Given the description of an element on the screen output the (x, y) to click on. 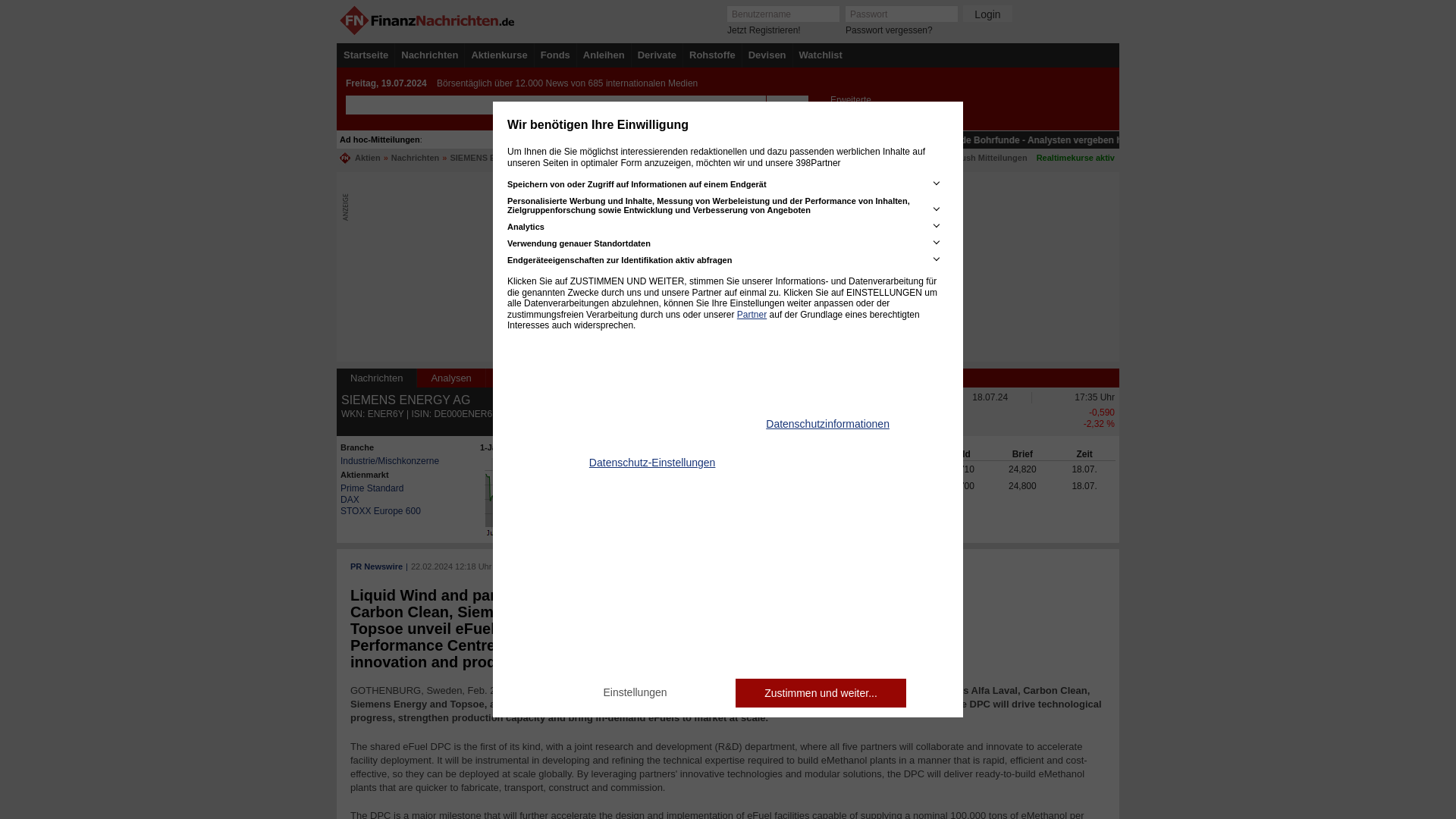
Nachrichten (429, 55)
Suchen (786, 104)
Startseite (365, 55)
Login (986, 13)
Passwort vergessen? (889, 30)
Jetzt Registrieren! (763, 30)
